Given the description of an element on the screen output the (x, y) to click on. 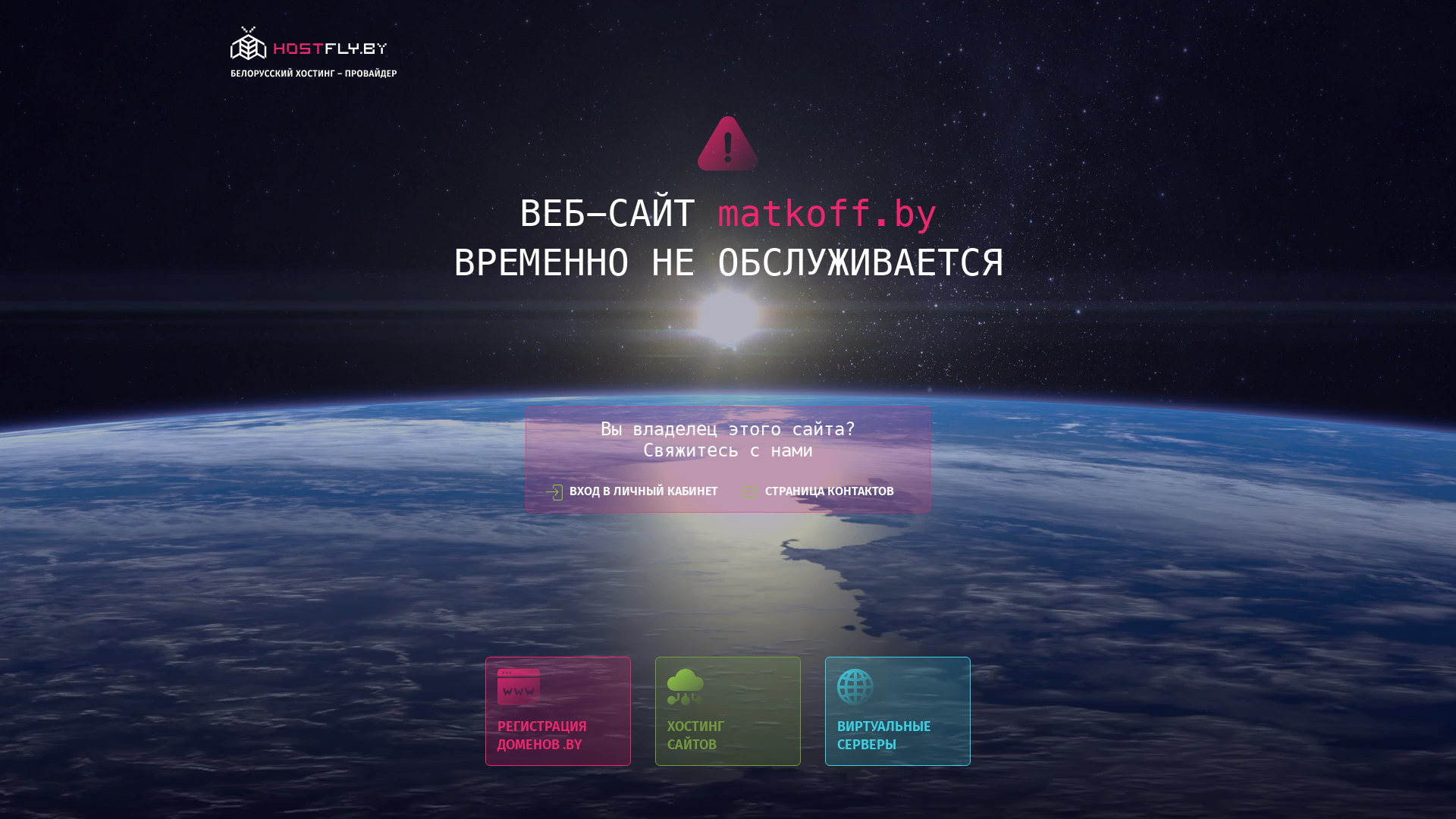
LINK Element type: text (313, 56)
